Given the description of an element on the screen output the (x, y) to click on. 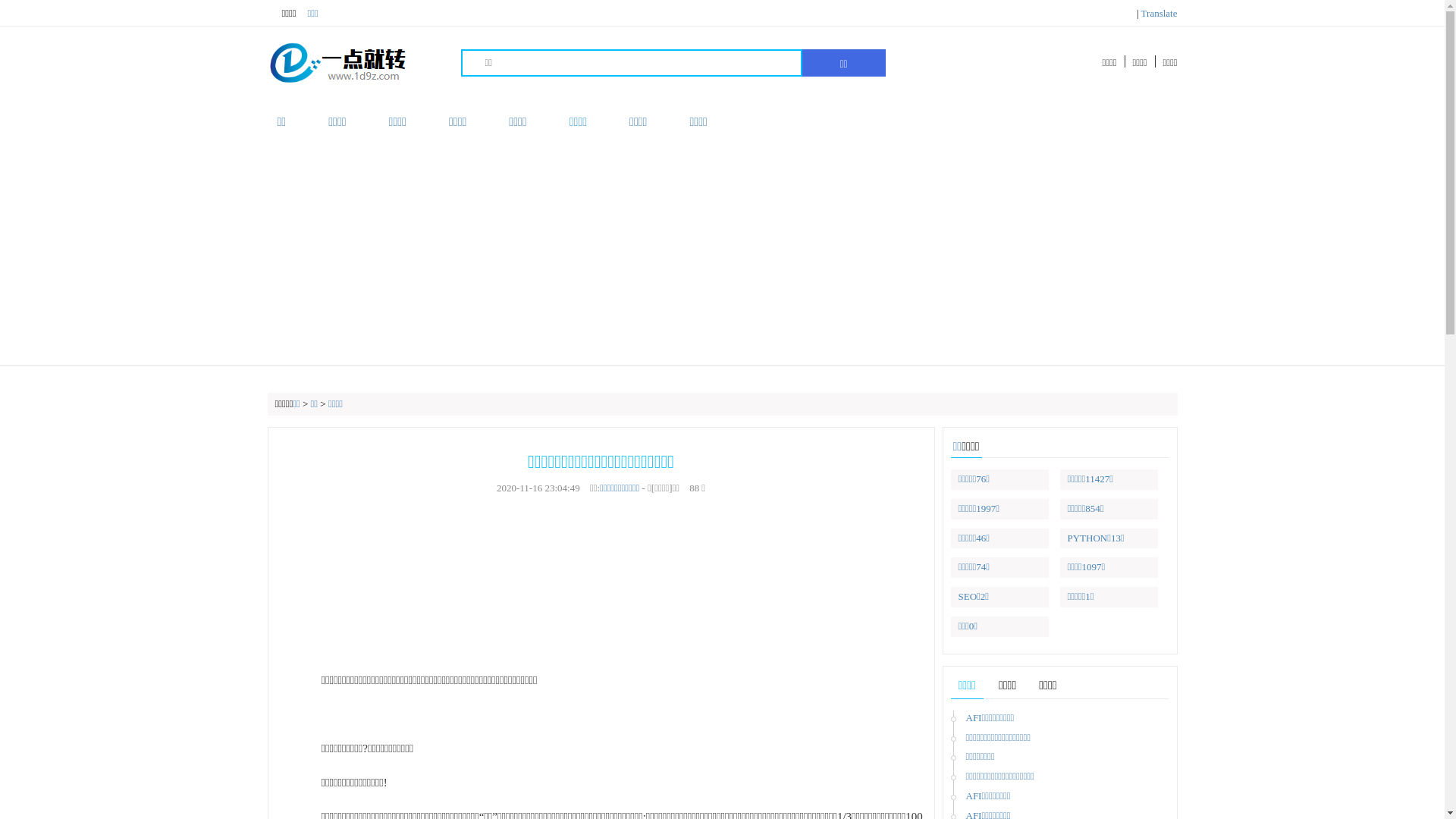
Advertisement Element type: hover (601, 583)
Advertisement Element type: hover (721, 250)
Translate Element type: text (1159, 12)
